Given the description of an element on the screen output the (x, y) to click on. 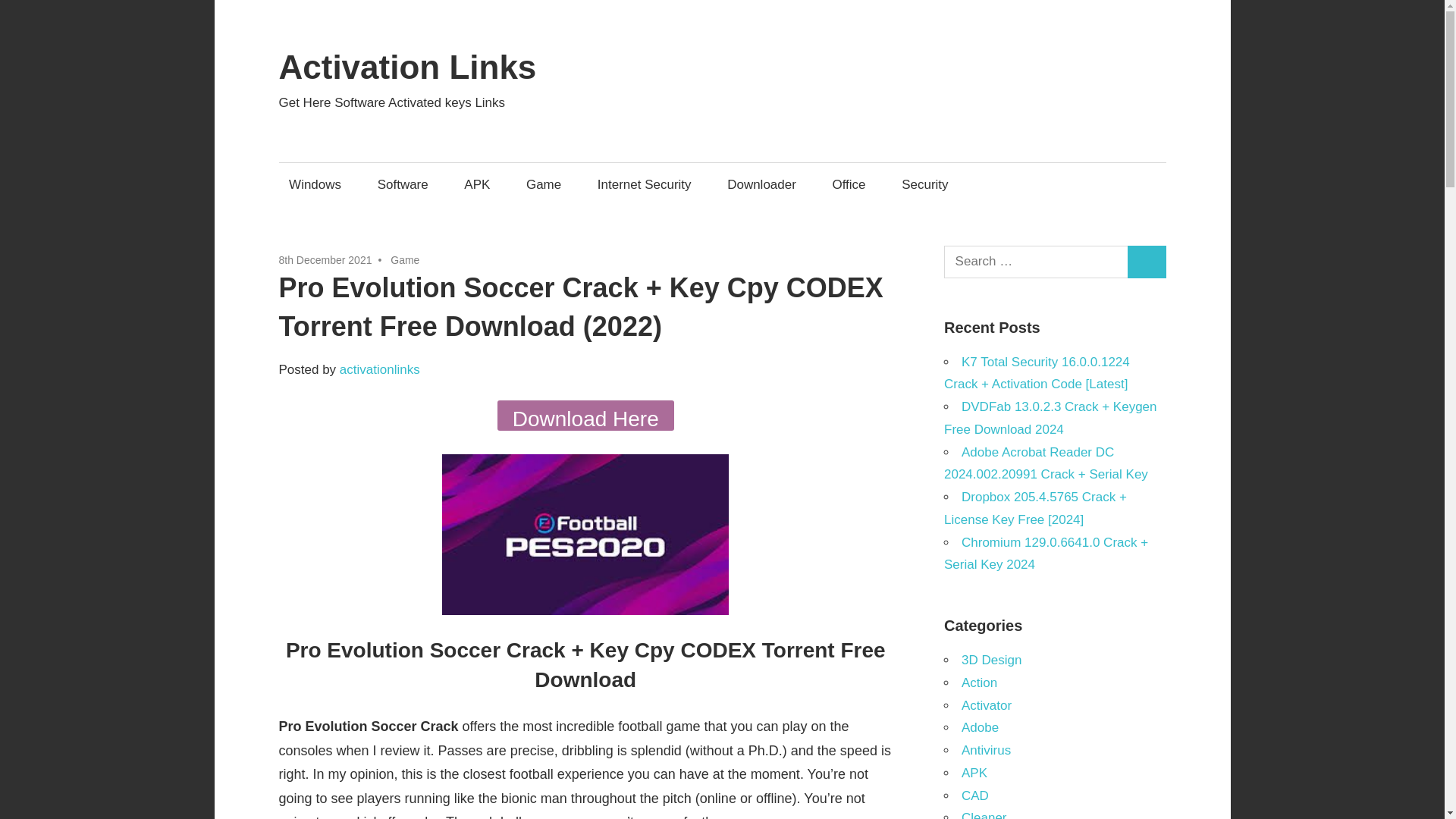
APK (477, 184)
Windows (315, 184)
Download Here (585, 415)
Search (1146, 261)
Security (925, 184)
Internet Security (643, 184)
Search for: (1035, 261)
Game (542, 184)
activationlinks (379, 369)
Software (402, 184)
Activation Links (408, 66)
5:06 am (325, 259)
3D Design (991, 659)
View all posts by activationlinks (379, 369)
8th December 2021 (325, 259)
